Given the description of an element on the screen output the (x, y) to click on. 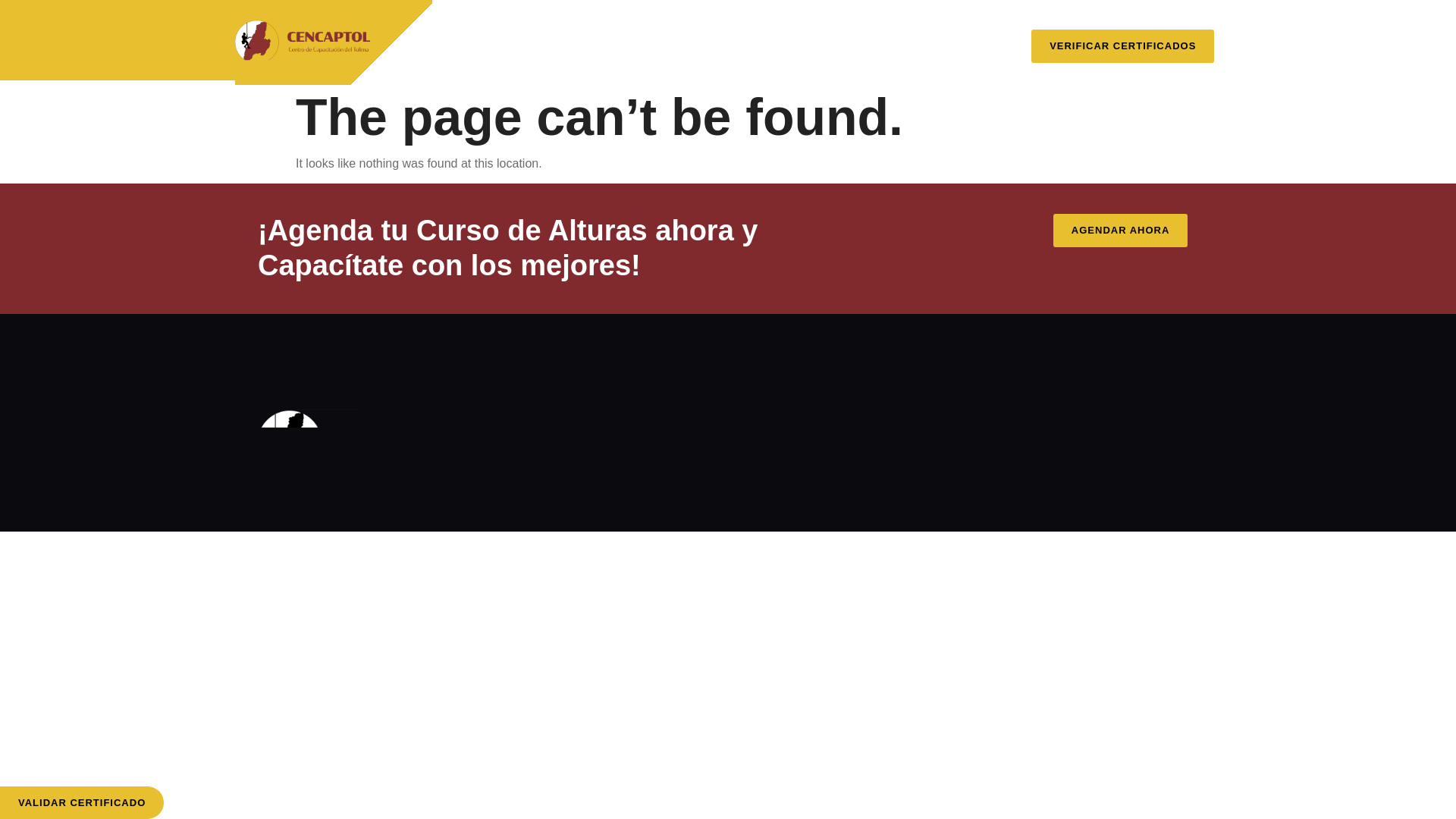
CONTACTO (738, 67)
AGENDAR AHORA (1120, 230)
SERVICIOS Y CAPACITACIONES (731, 32)
VERIFICAR CERTIFICADOS (1122, 42)
BLOG (875, 32)
INICIO (481, 32)
NOSOTROS (570, 32)
VERIFICAR CERTIFICADOS (1122, 46)
AGENDAR AHORA (1125, 230)
